Given the description of an element on the screen output the (x, y) to click on. 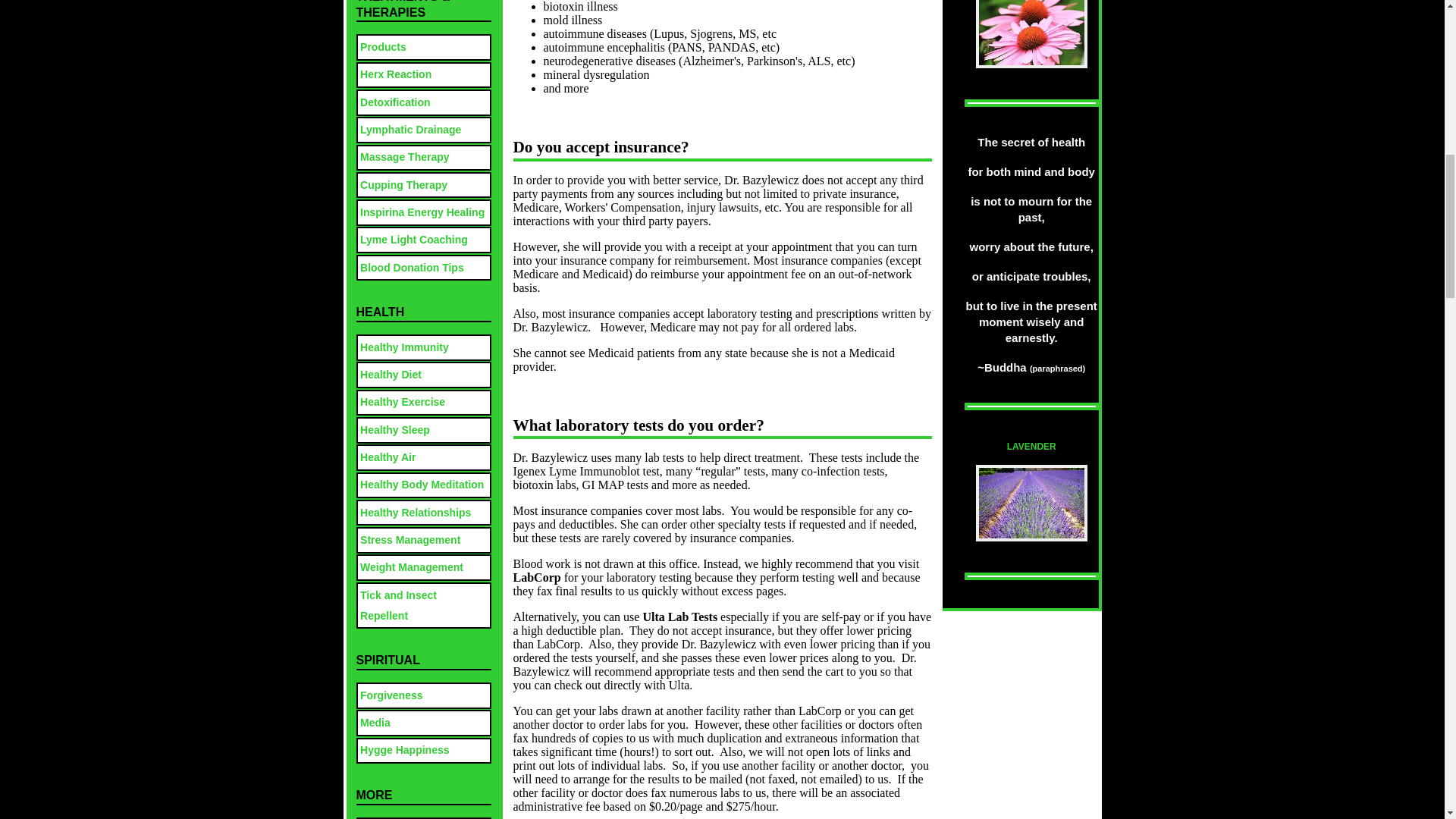
Echinacea (1031, 33)
Lavender (1031, 503)
Lavender (1031, 536)
Echinacea (1031, 63)
